Given the description of an element on the screen output the (x, y) to click on. 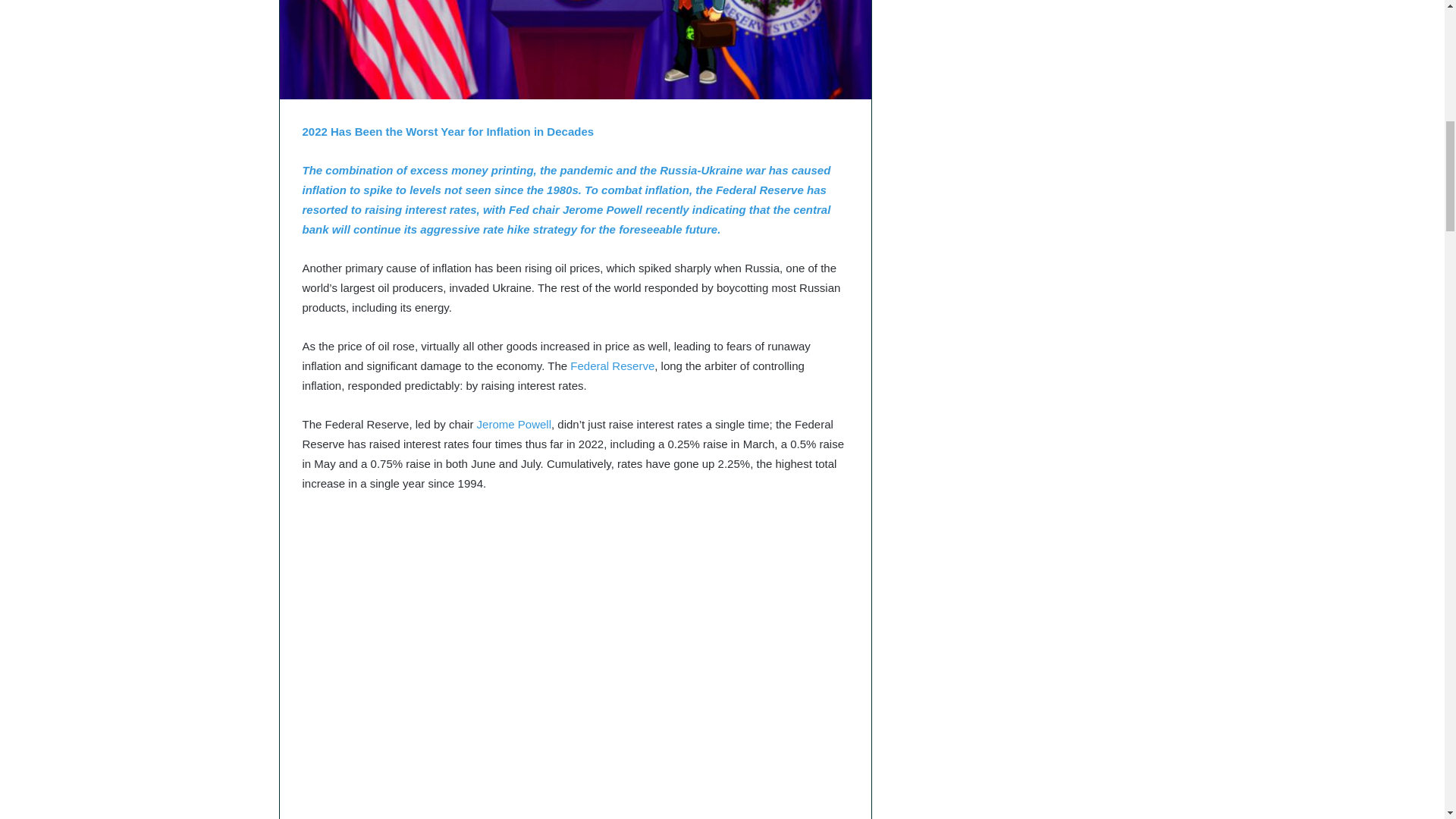
Federal Reserve (611, 365)
2022 Has Been the Worst Year for Inflation in Decades (447, 130)
